Given the description of an element on the screen output the (x, y) to click on. 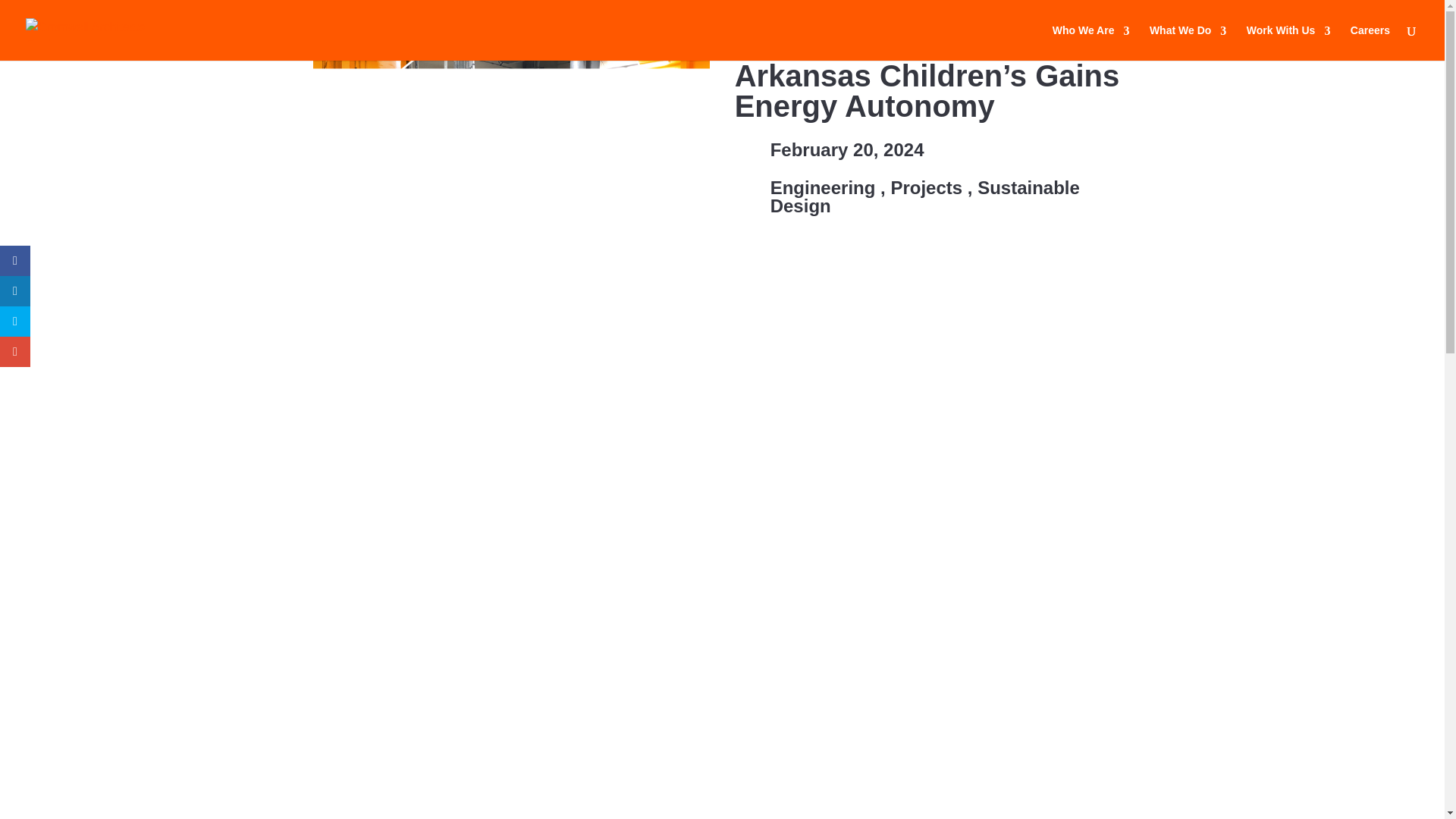
What We Do (1187, 36)
Who We Are (1090, 36)
Sustainable Design (925, 196)
Projects (925, 187)
Work With Us (1288, 36)
Engineering (823, 187)
